Given the description of an element on the screen output the (x, y) to click on. 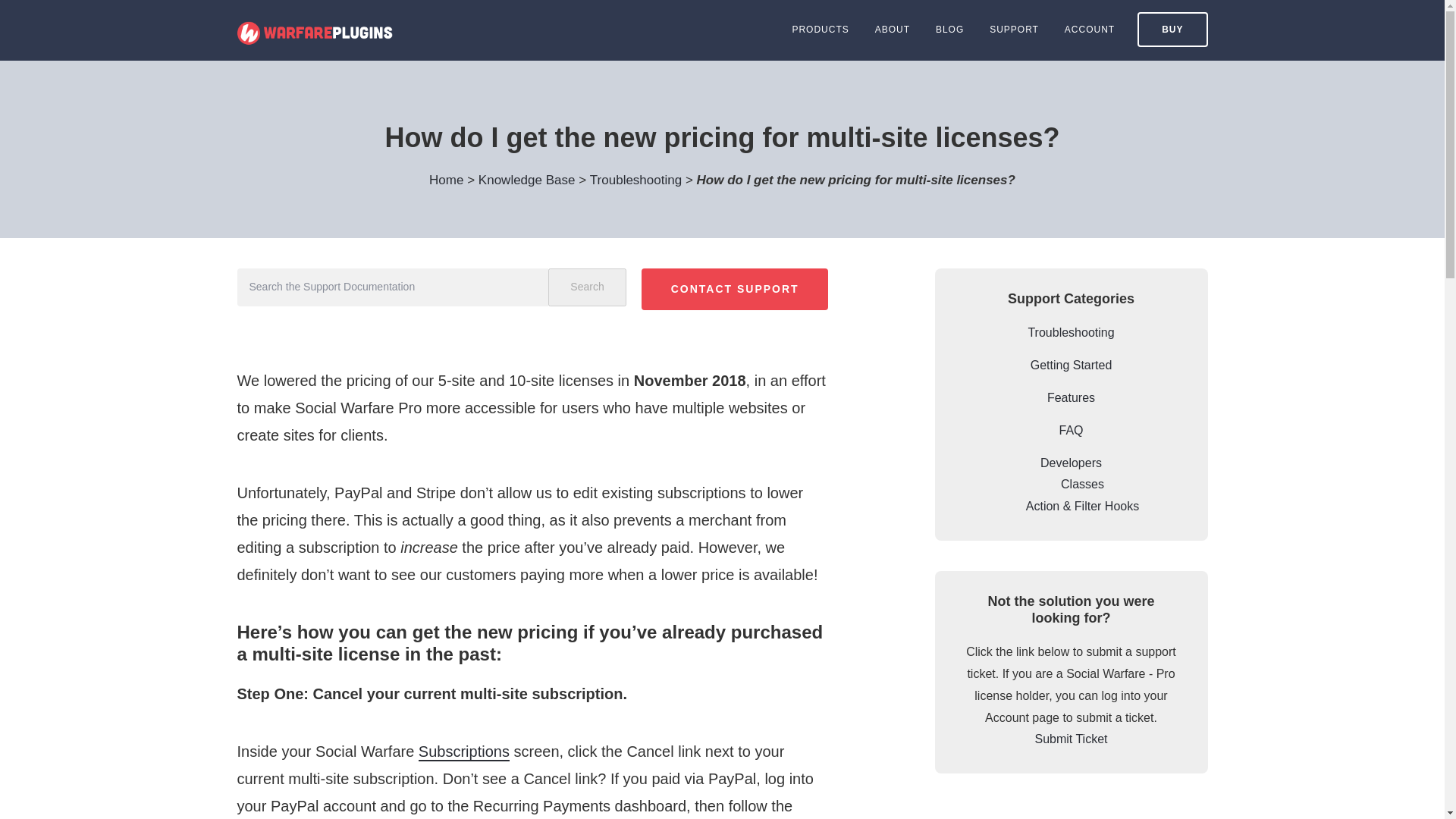
ACCOUNT (1088, 29)
Knowledge Base (528, 179)
SUPPORT (1013, 29)
Developers (1071, 462)
BUY (1172, 29)
Subscriptions (464, 751)
Classes (1082, 483)
Troubleshooting (637, 179)
Home (448, 179)
